Given the description of an element on the screen output the (x, y) to click on. 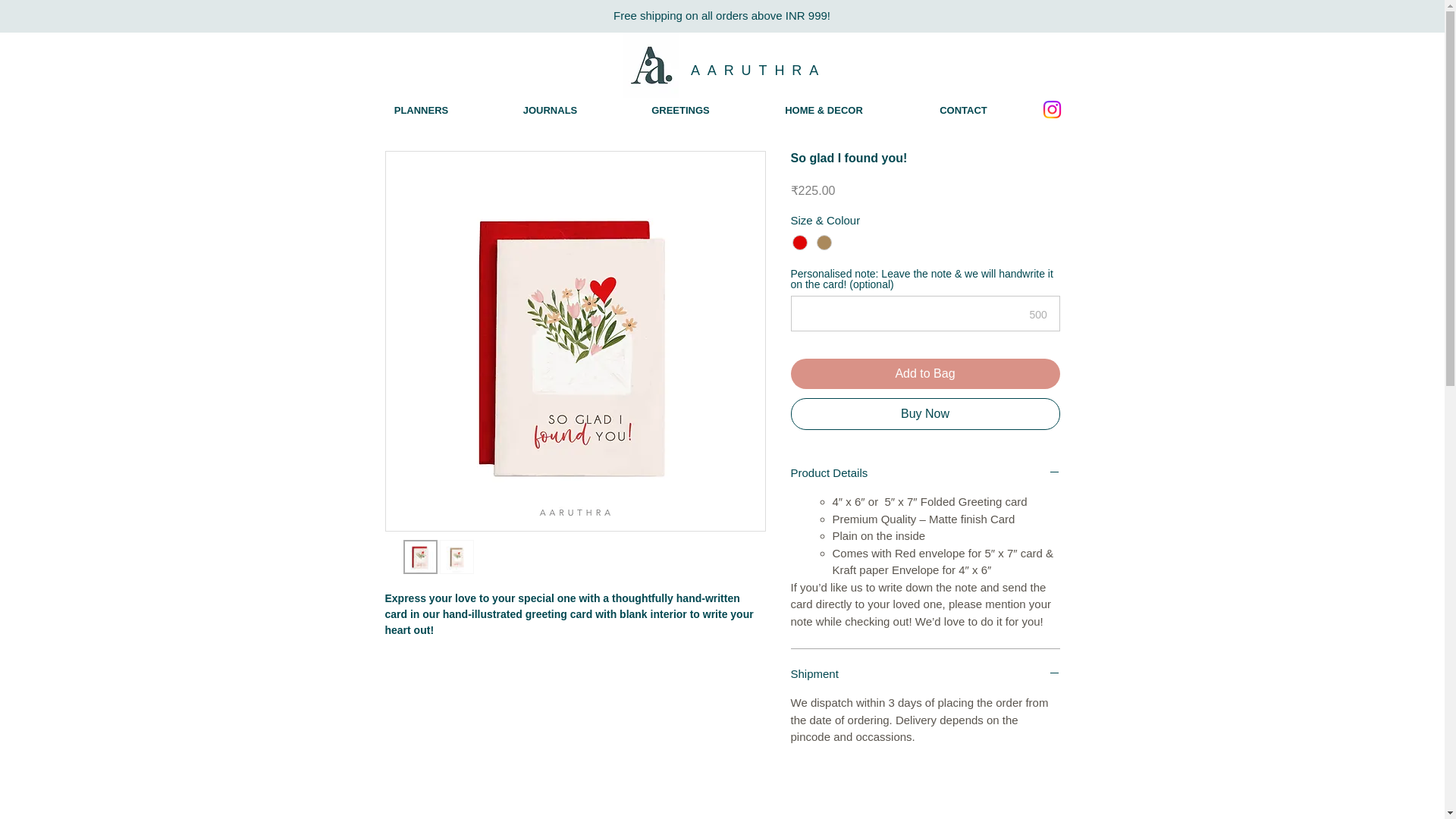
GREETINGS (679, 109)
Product Details (924, 473)
PLANNERS (420, 109)
Buy Now (924, 413)
Add to Bag (924, 373)
CONTACT (963, 109)
Shipment (924, 674)
AARUTHRA (757, 70)
JOURNALS (549, 109)
